Given the description of an element on the screen output the (x, y) to click on. 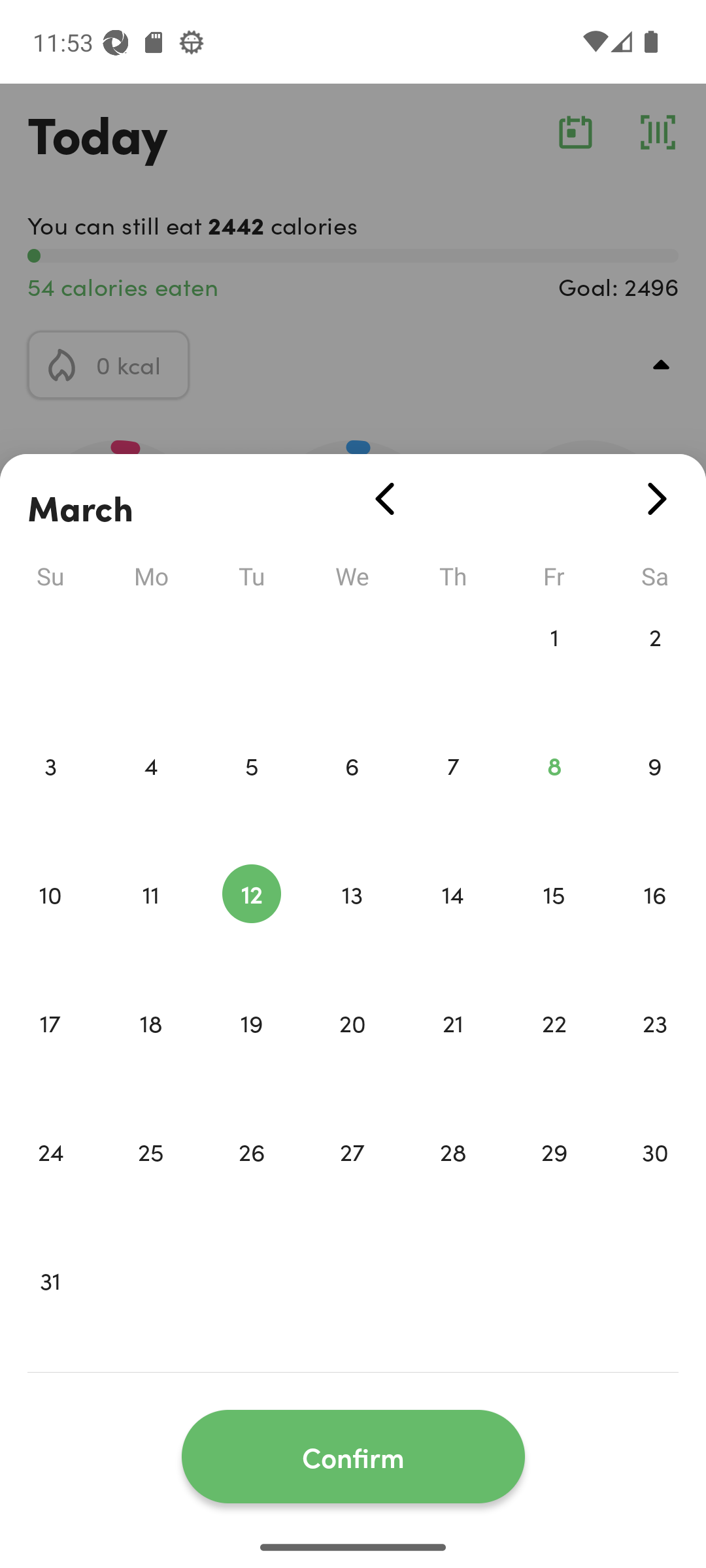
1 (554, 663)
2 (655, 663)
3 (50, 793)
4 (150, 793)
5 (251, 793)
6 (352, 793)
7 (453, 793)
8 (554, 793)
9 (655, 793)
10 (50, 921)
11 (150, 921)
12 (251, 921)
13 (352, 921)
14 (453, 921)
15 (554, 921)
16 (655, 921)
17 (50, 1050)
18 (150, 1050)
19 (251, 1050)
20 (352, 1050)
21 (453, 1050)
22 (554, 1050)
23 (655, 1050)
24 (50, 1178)
25 (150, 1178)
26 (251, 1178)
27 (352, 1178)
28 (453, 1178)
29 (554, 1178)
30 (655, 1178)
31 (50, 1307)
Confirm (353, 1456)
